Given the description of an element on the screen output the (x, y) to click on. 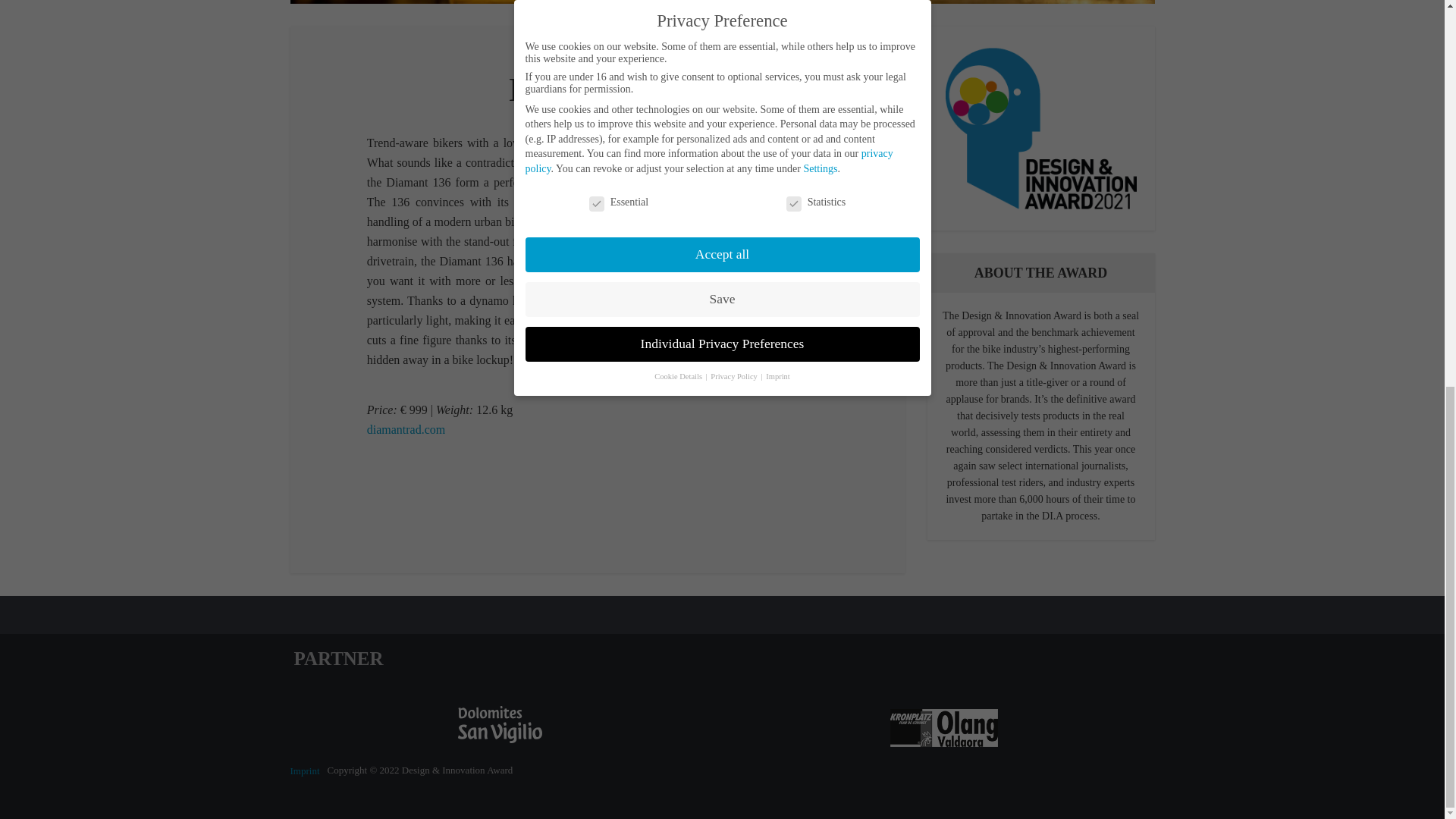
St. Vigilio (500, 723)
Imprint (303, 770)
URBAN (649, 58)
diamantrad.com (405, 429)
ALL WINNER 2021 (573, 58)
Kronplatz (943, 726)
Open Cookie Preferences (32, 67)
